Given the description of an element on the screen output the (x, y) to click on. 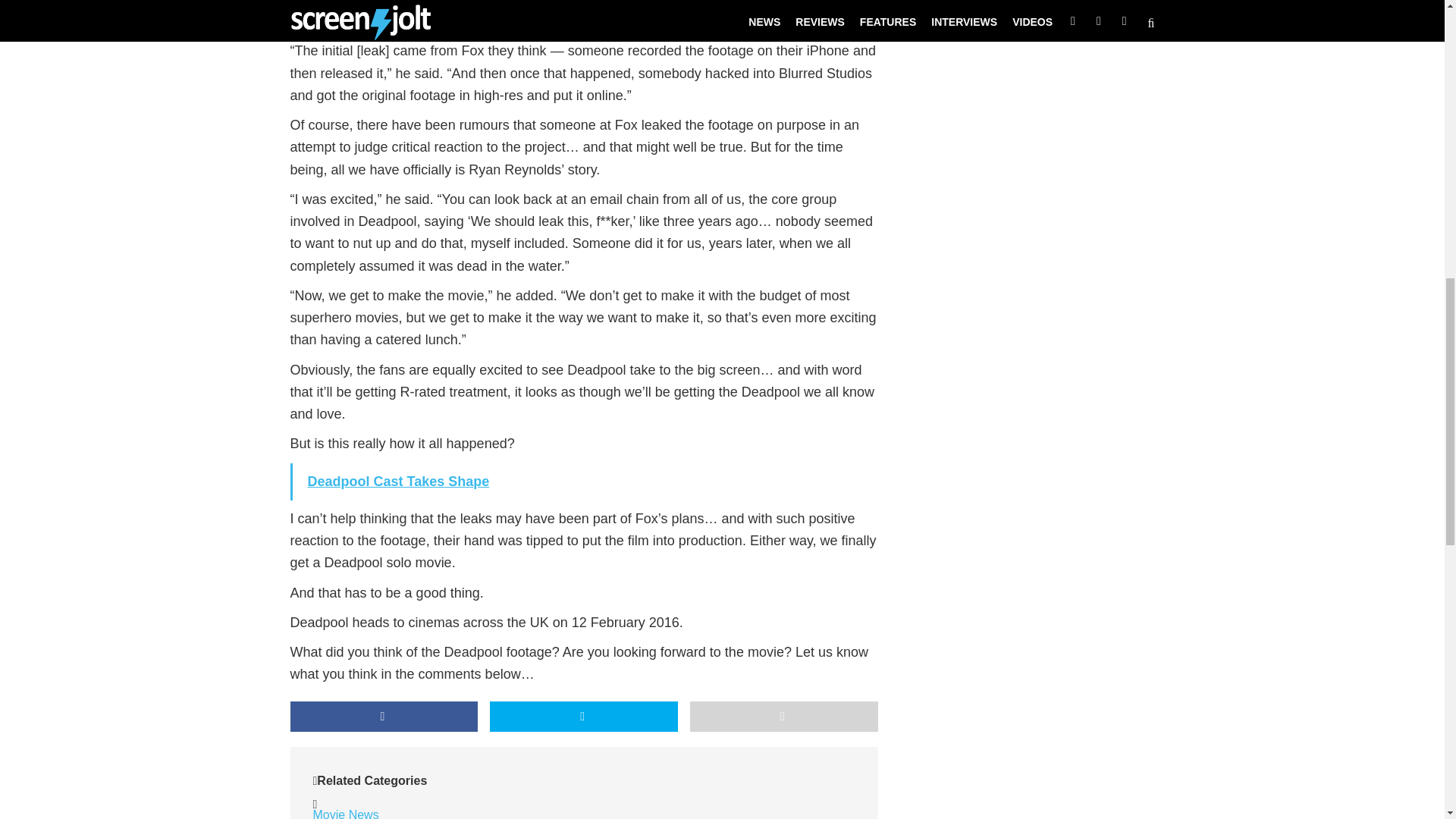
Deadpool (339, 818)
Ryan Reynolds (455, 818)
X-Men (520, 818)
Share via Email (783, 716)
Deadpool Cast Takes Shape (398, 481)
Marvel (389, 818)
Movie News (345, 813)
